Given the description of an element on the screen output the (x, y) to click on. 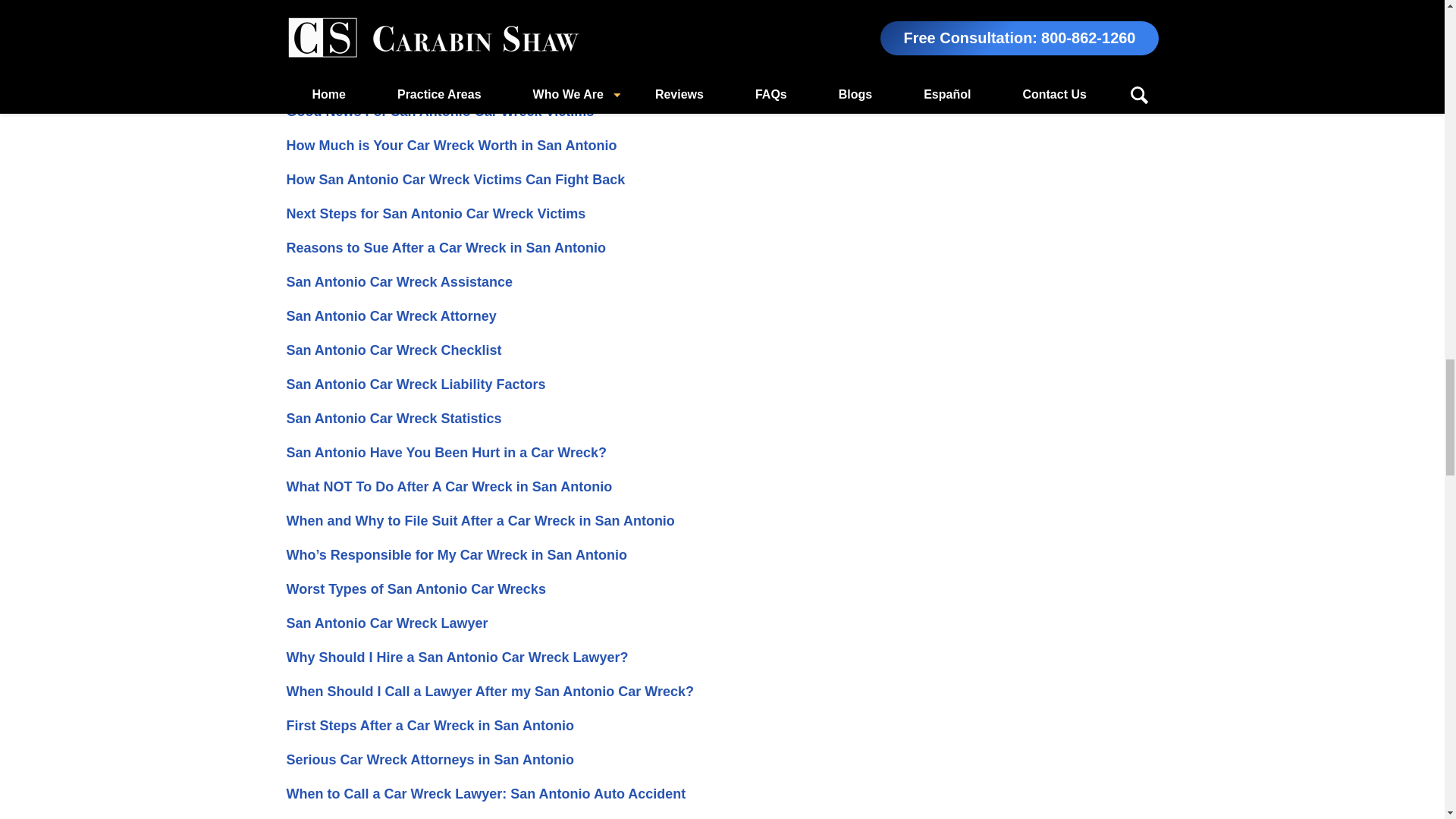
Car Wreck Checklist Every San Antonian Should Read (461, 43)
Can I sue for My Car Wreck? (378, 8)
Good News For San Antonio Car Wreck Victims (440, 111)
